Given the description of an element on the screen output the (x, y) to click on. 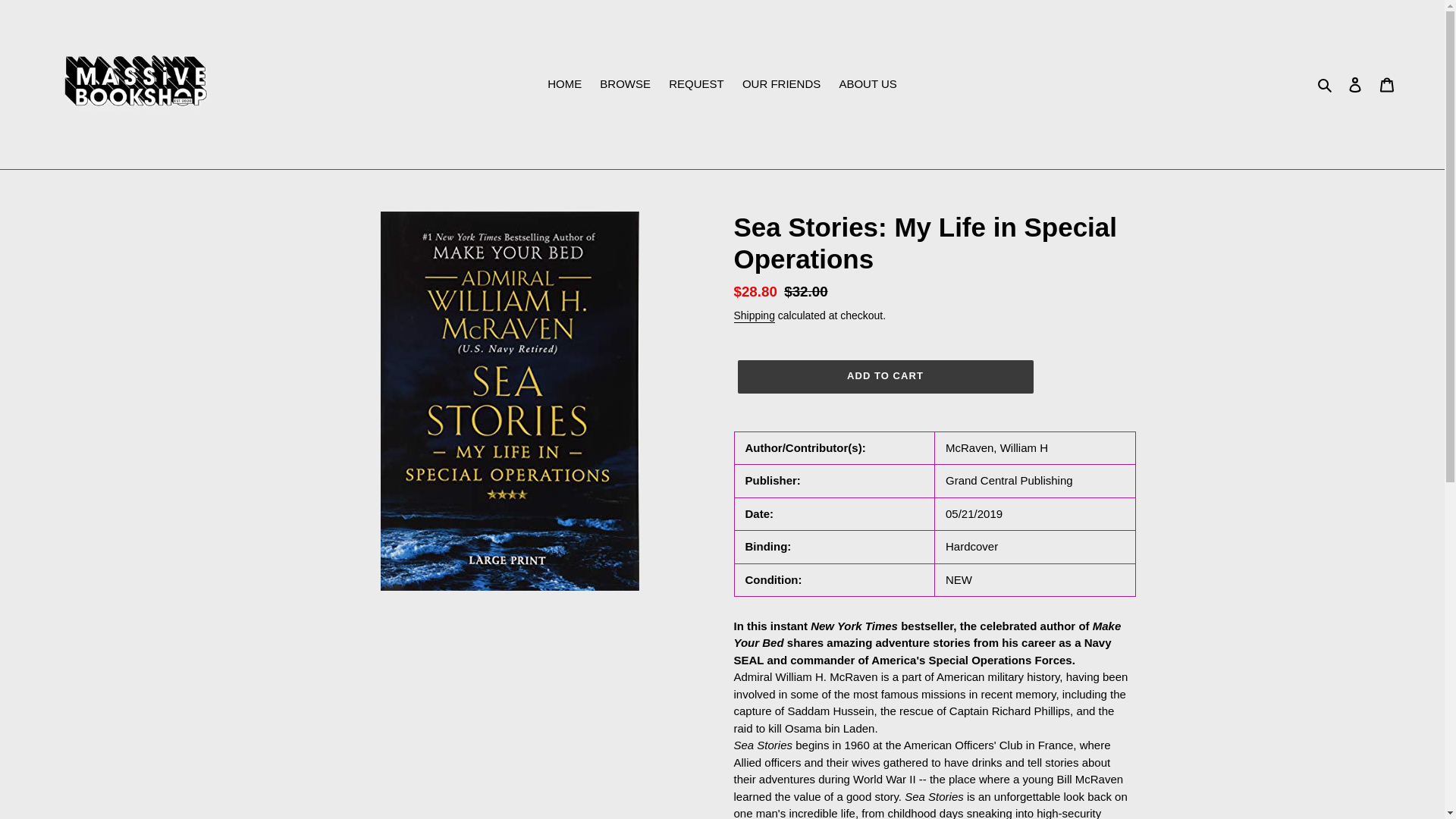
REQUEST (696, 84)
Shipping (753, 315)
HOME (564, 84)
Log in (1355, 83)
ADD TO CART (884, 376)
OUR FRIENDS (781, 84)
Cart (1387, 83)
BROWSE (625, 84)
Search (1326, 84)
ABOUT US (867, 84)
